Given the description of an element on the screen output the (x, y) to click on. 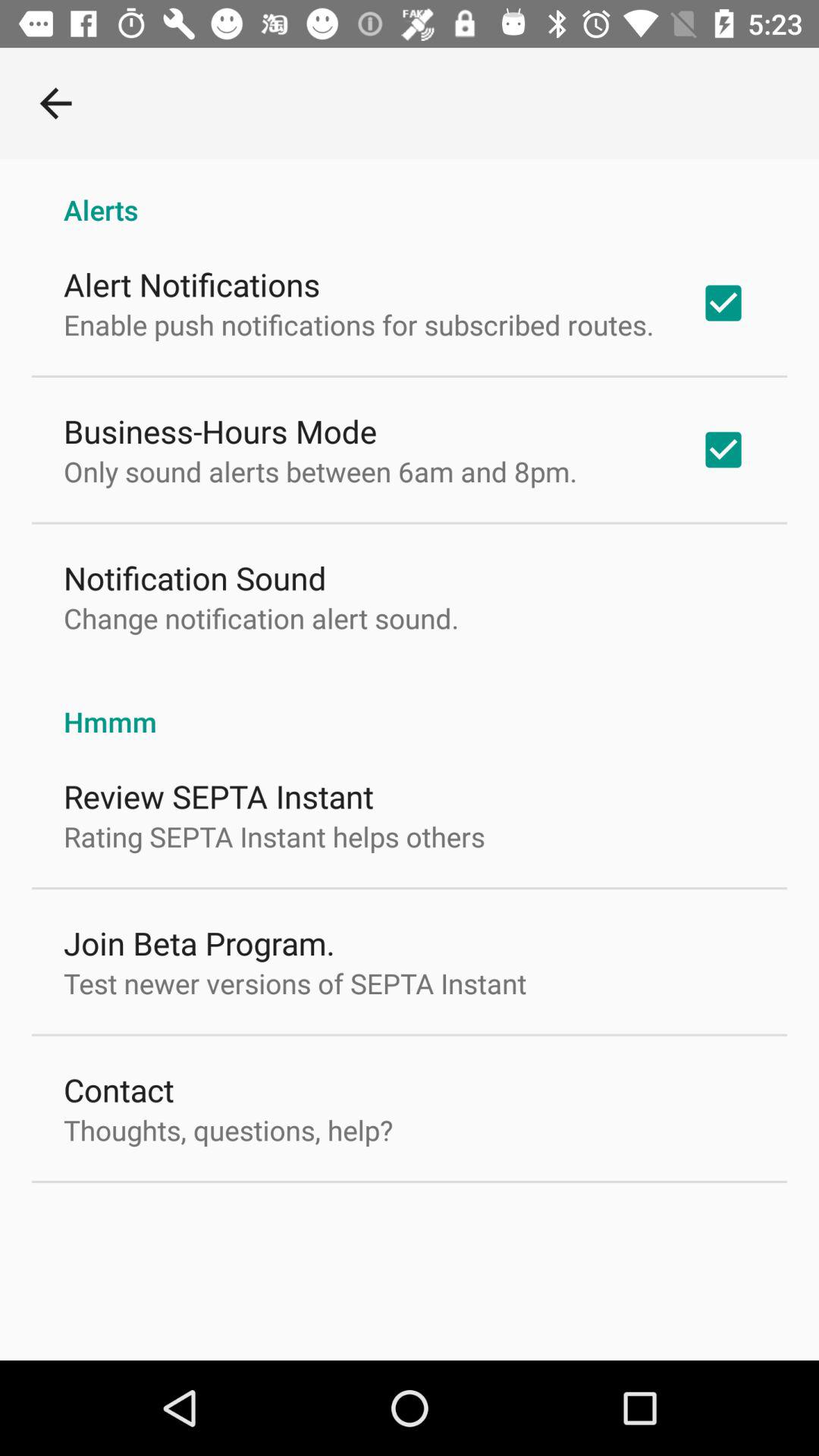
open item above contact item (294, 983)
